Given the description of an element on the screen output the (x, y) to click on. 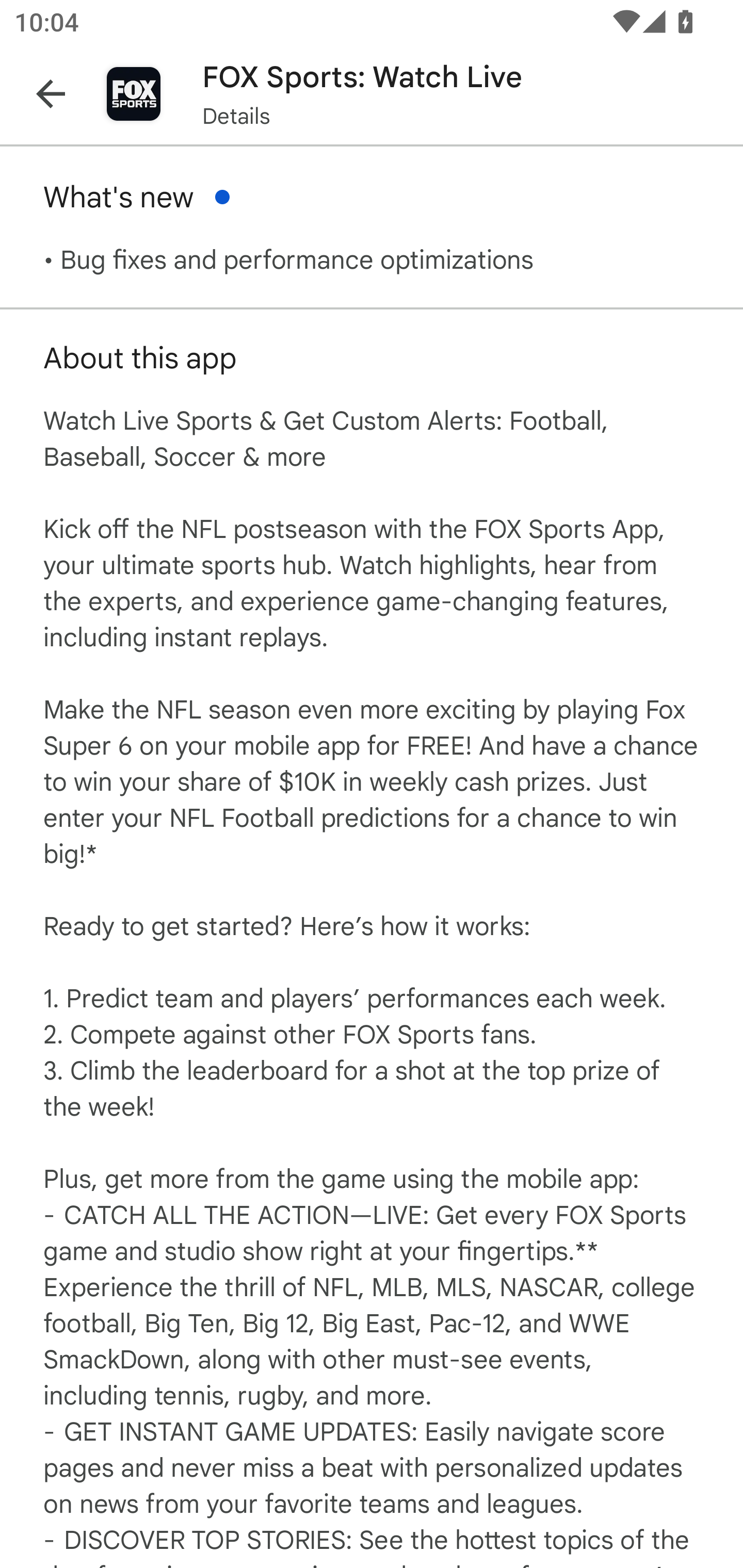
Navigate up (50, 93)
